Given the description of an element on the screen output the (x, y) to click on. 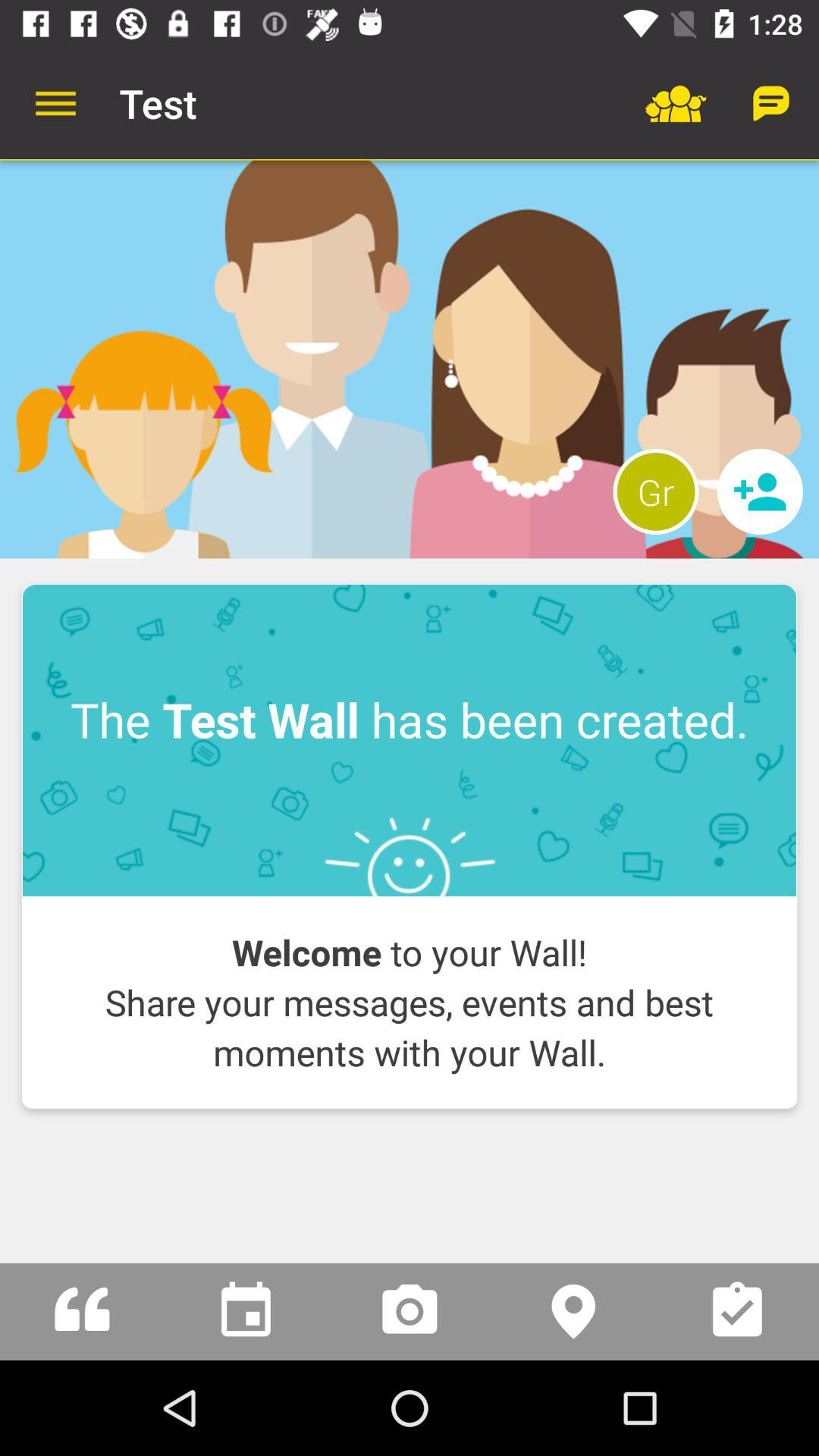
open the welcome to your item (409, 1002)
